Given the description of an element on the screen output the (x, y) to click on. 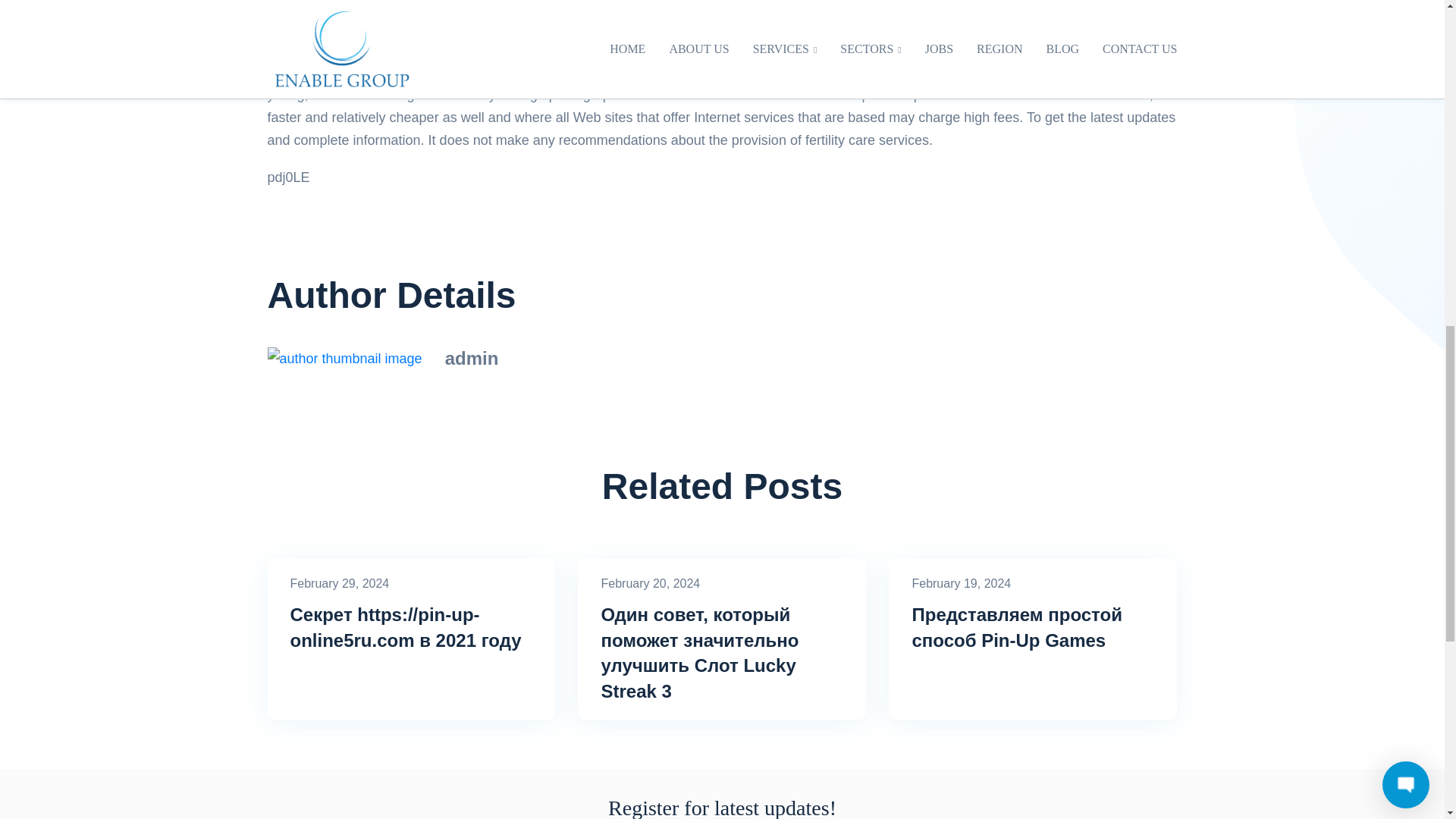
admin (472, 358)
